Given the description of an element on the screen output the (x, y) to click on. 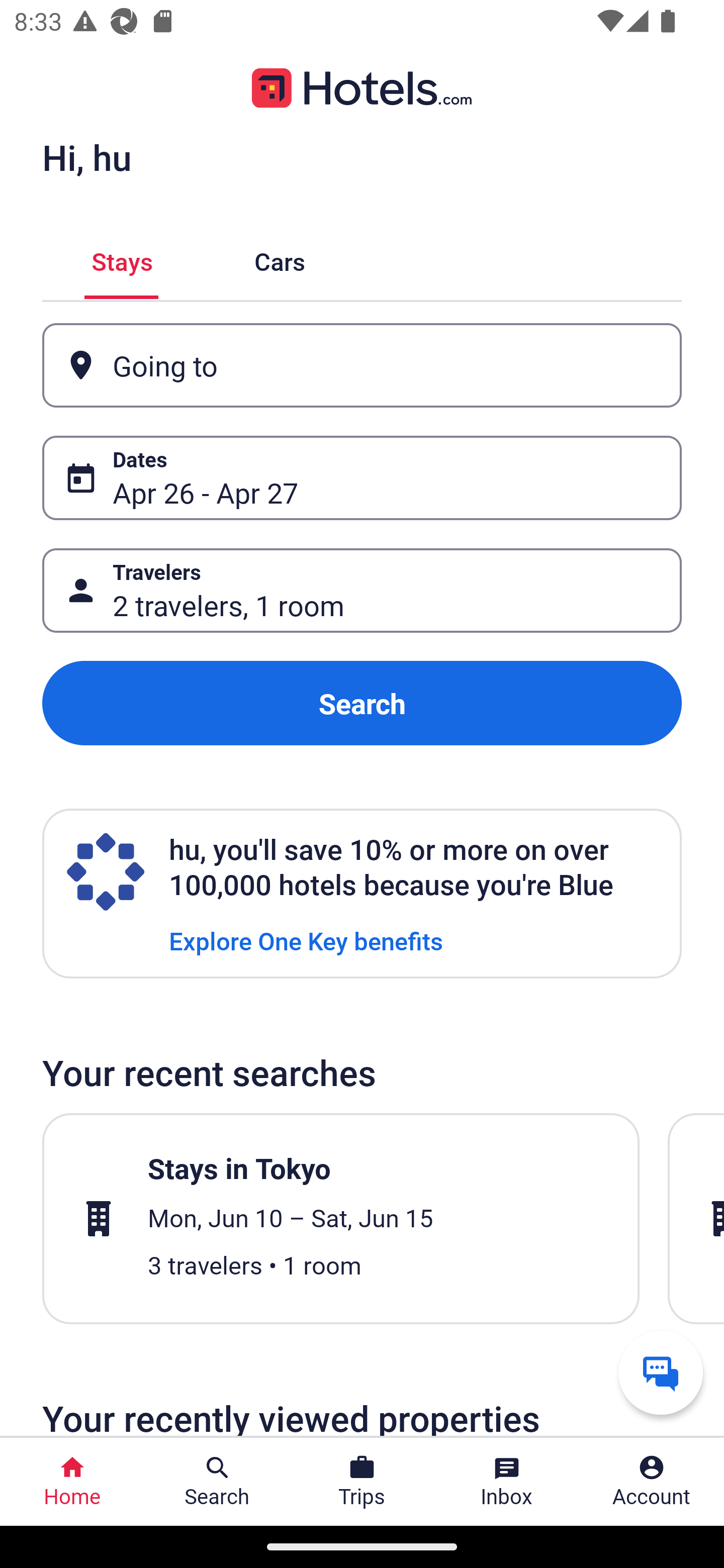
Hi, hu (86, 156)
Cars (279, 259)
Going to Button (361, 365)
Dates Button Apr 26 - Apr 27 (361, 477)
Travelers Button 2 travelers, 1 room (361, 590)
Search (361, 702)
Get help from a virtual agent (660, 1371)
Search Search Button (216, 1481)
Trips Trips Button (361, 1481)
Inbox Inbox Button (506, 1481)
Account Profile. Button (651, 1481)
